Given the description of an element on the screen output the (x, y) to click on. 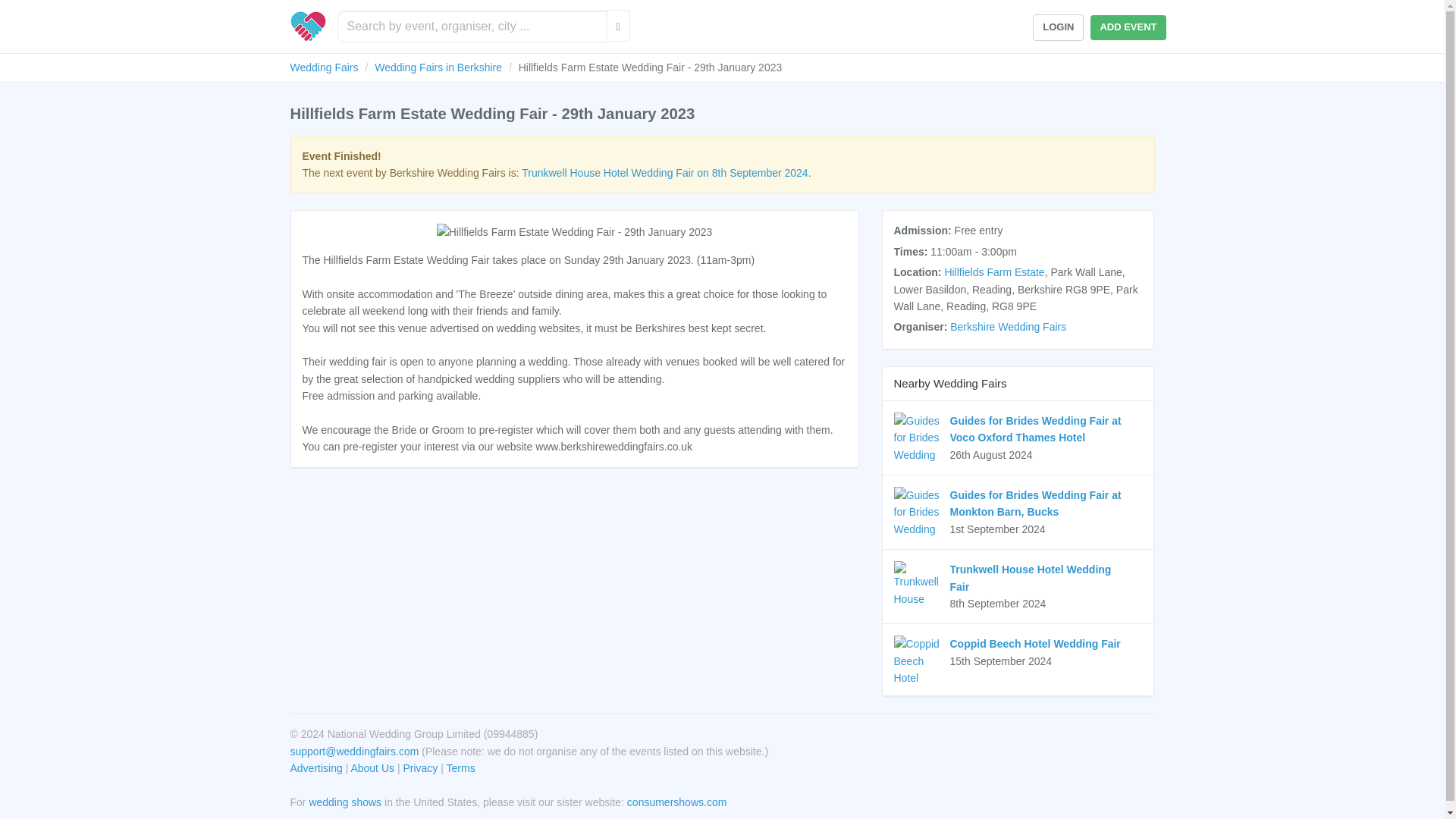
Wedding Shows (344, 802)
Advertising (315, 767)
wedding shows (344, 802)
Hillfields Farm Estate Wedding Fair - 29th January 2023 (574, 231)
Berkshire Wedding Fairs (1007, 326)
Wedding Fairs (306, 26)
Consumer Shows (676, 802)
Trunkwell House Hotel Wedding Fair on 8th September 2024 (664, 173)
ADD EVENT (1128, 27)
Coppid Beech Hotel Wedding Fair (1034, 644)
